Given the description of an element on the screen output the (x, y) to click on. 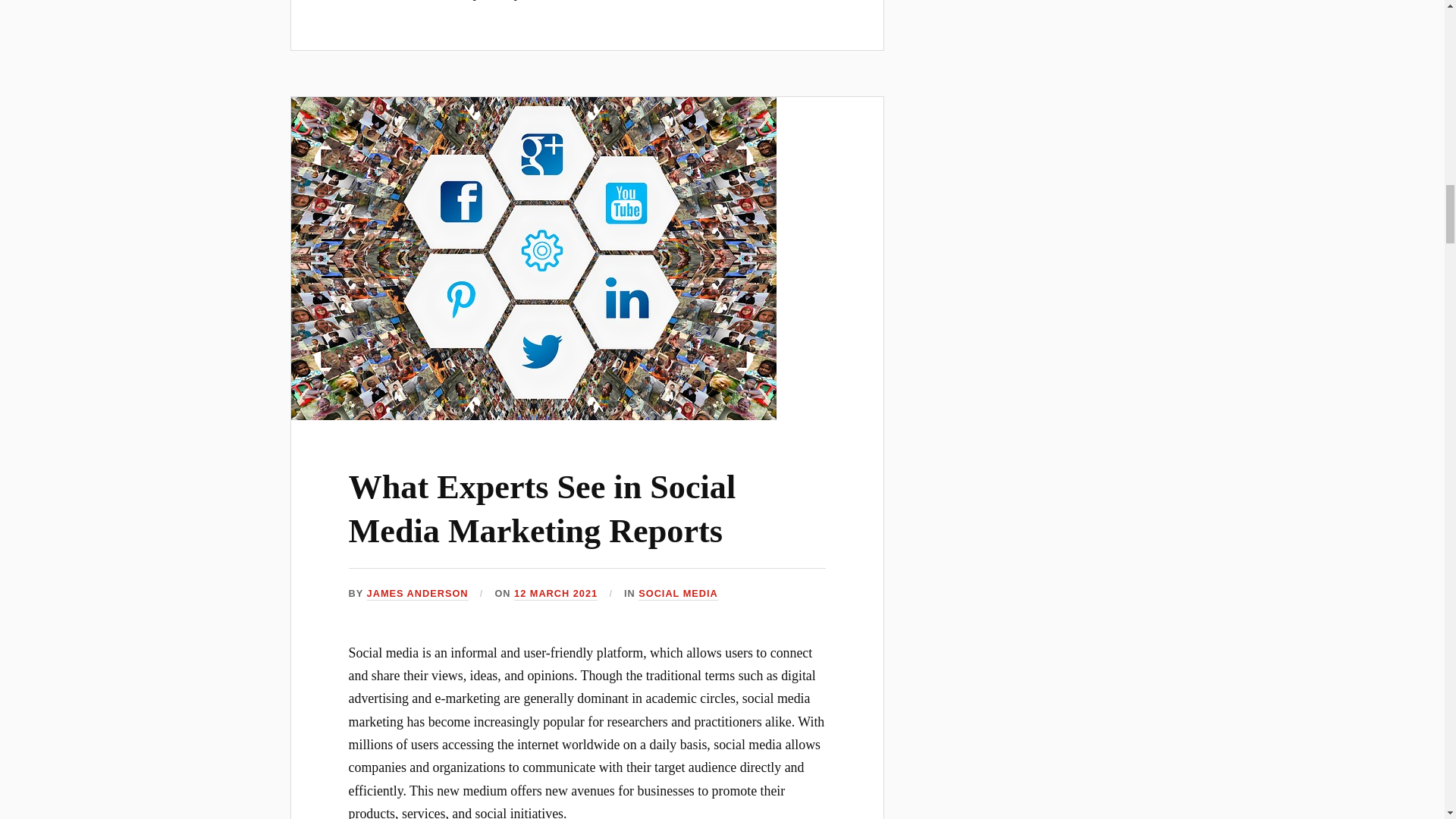
JAMES ANDERSON (417, 594)
SOCIAL MEDIA (678, 594)
What Experts See in Social Media Marketing Reports (542, 508)
Posts by James Anderson (417, 594)
12 MARCH 2021 (554, 594)
